Given the description of an element on the screen output the (x, y) to click on. 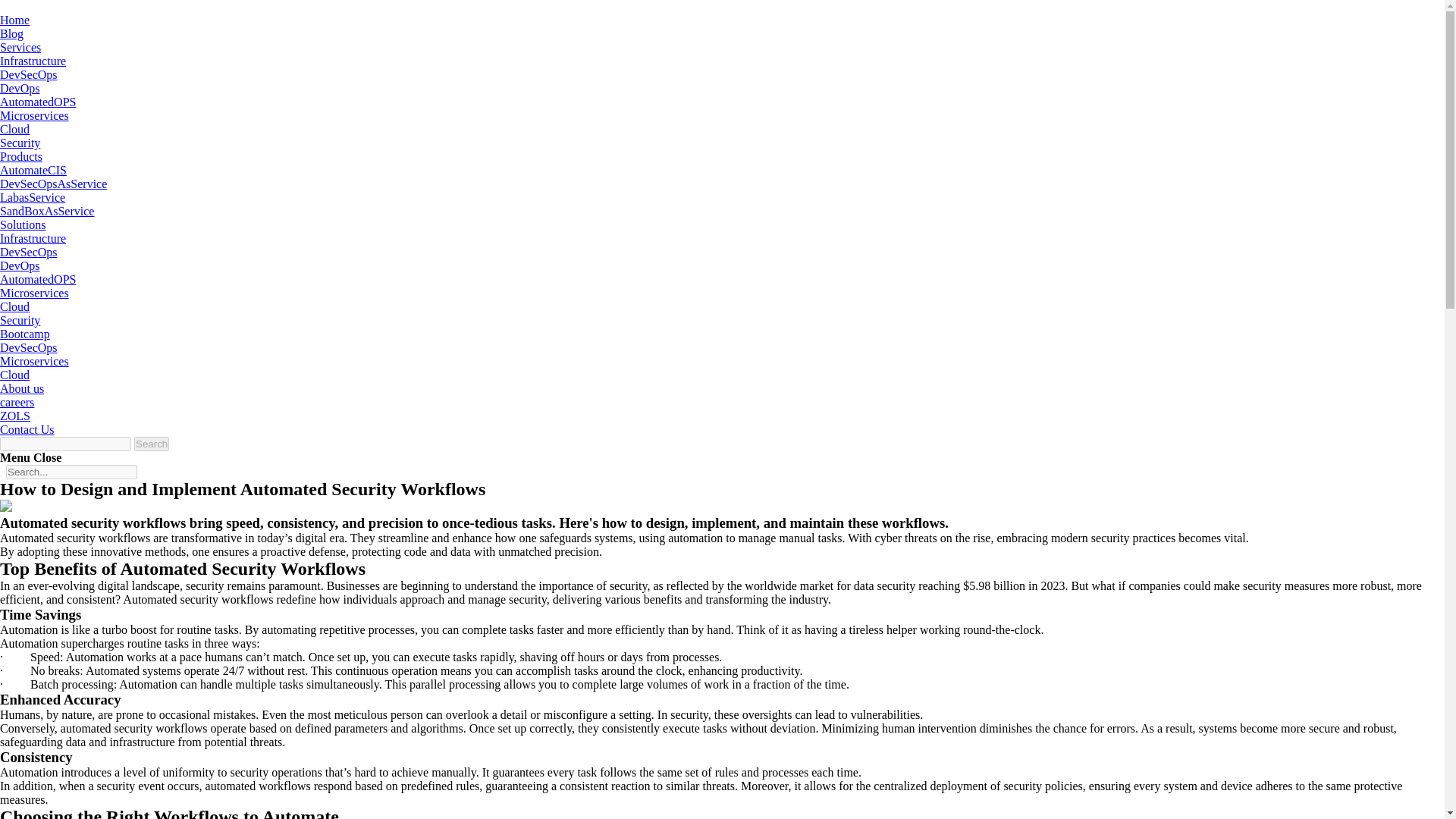
Search (150, 443)
Security (20, 142)
Infrastructure (32, 237)
Bootcamp (24, 333)
Products (21, 155)
DevSecOpsAsService (53, 183)
DevSecOps (29, 74)
DevSecOps (29, 347)
DevOps (19, 88)
Solutions (22, 224)
Cloud (14, 306)
Infrastructure (32, 60)
Cloud (14, 128)
AutomatedOPS (37, 278)
Contact Us (27, 429)
